Given the description of an element on the screen output the (x, y) to click on. 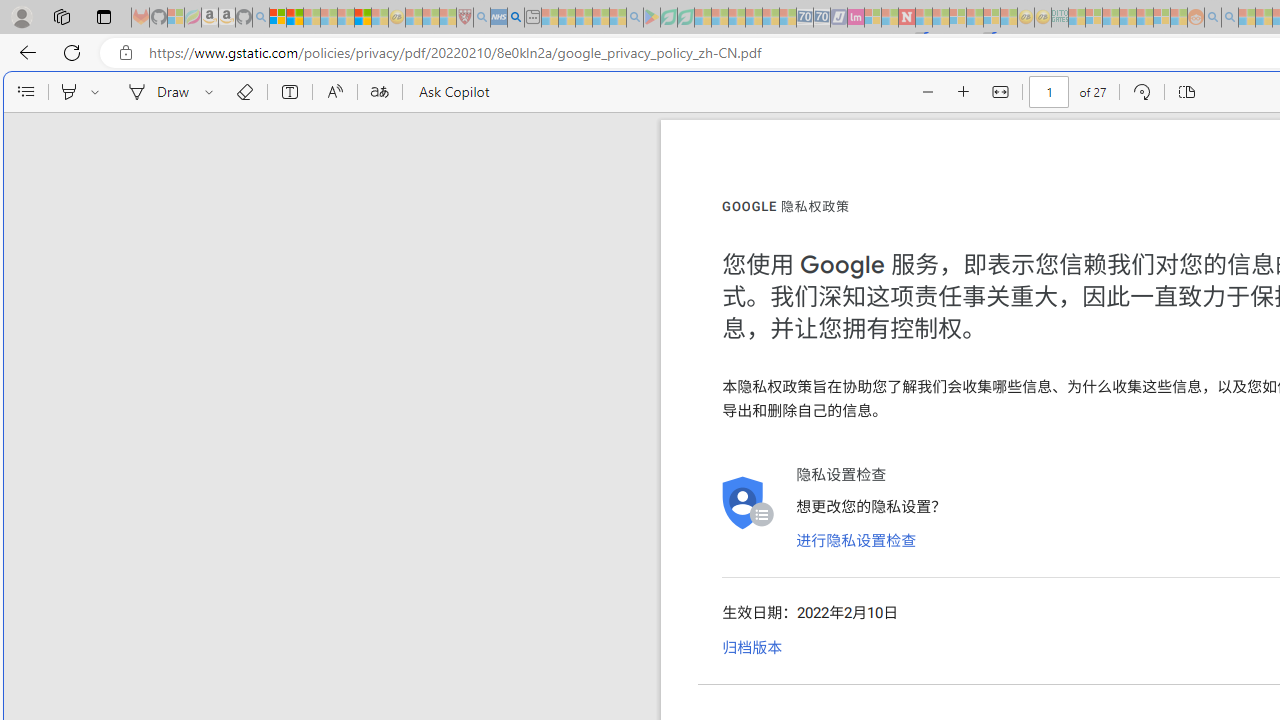
Draw (155, 92)
DITOGAMES AG Imprint - Sleeping (1059, 17)
MSNBC - MSN - Sleeping (1076, 17)
Erase (244, 92)
Terms of Use Agreement - Sleeping (668, 17)
Select a highlight color (98, 92)
Cheap Car Rentals - Save70.com - Sleeping (804, 17)
Page number (1049, 92)
Expert Portfolios - Sleeping (1128, 17)
